Given the description of an element on the screen output the (x, y) to click on. 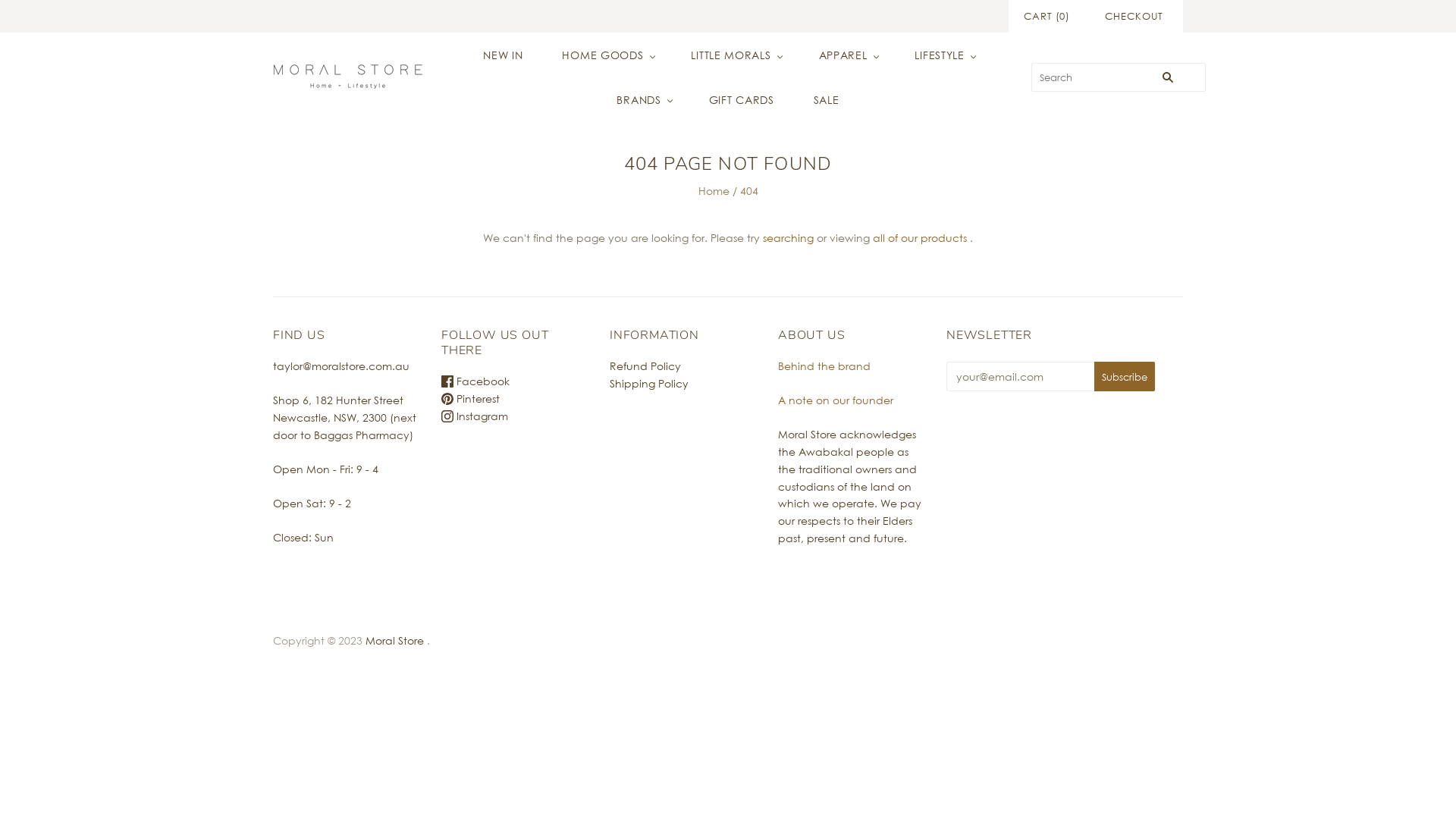
APPAREL Element type: text (847, 55)
LIFESTYLE Element type: text (942, 55)
Behind the brand Element type: text (824, 365)
CART (0) Element type: text (1046, 16)
Instagram Element type: text (474, 415)
CHECKOUT Element type: text (1133, 16)
SALE Element type: text (826, 100)
BRANDS Element type: text (642, 100)
Pinterest Element type: text (470, 398)
Moral Store Element type: text (395, 639)
searching Element type: text (787, 237)
Home Element type: text (712, 190)
LITTLE MORALS Element type: text (734, 55)
Facebook Element type: text (475, 380)
A note on our founder Element type: text (835, 399)
NEW IN Element type: text (502, 55)
all of our products Element type: text (919, 237)
Refund Policy Element type: text (644, 365)
Subscribe Element type: text (1124, 376)
HOME GOODS Element type: text (606, 55)
Shipping Policy Element type: text (648, 382)
GIFT CARDS Element type: text (741, 100)
